Given the description of an element on the screen output the (x, y) to click on. 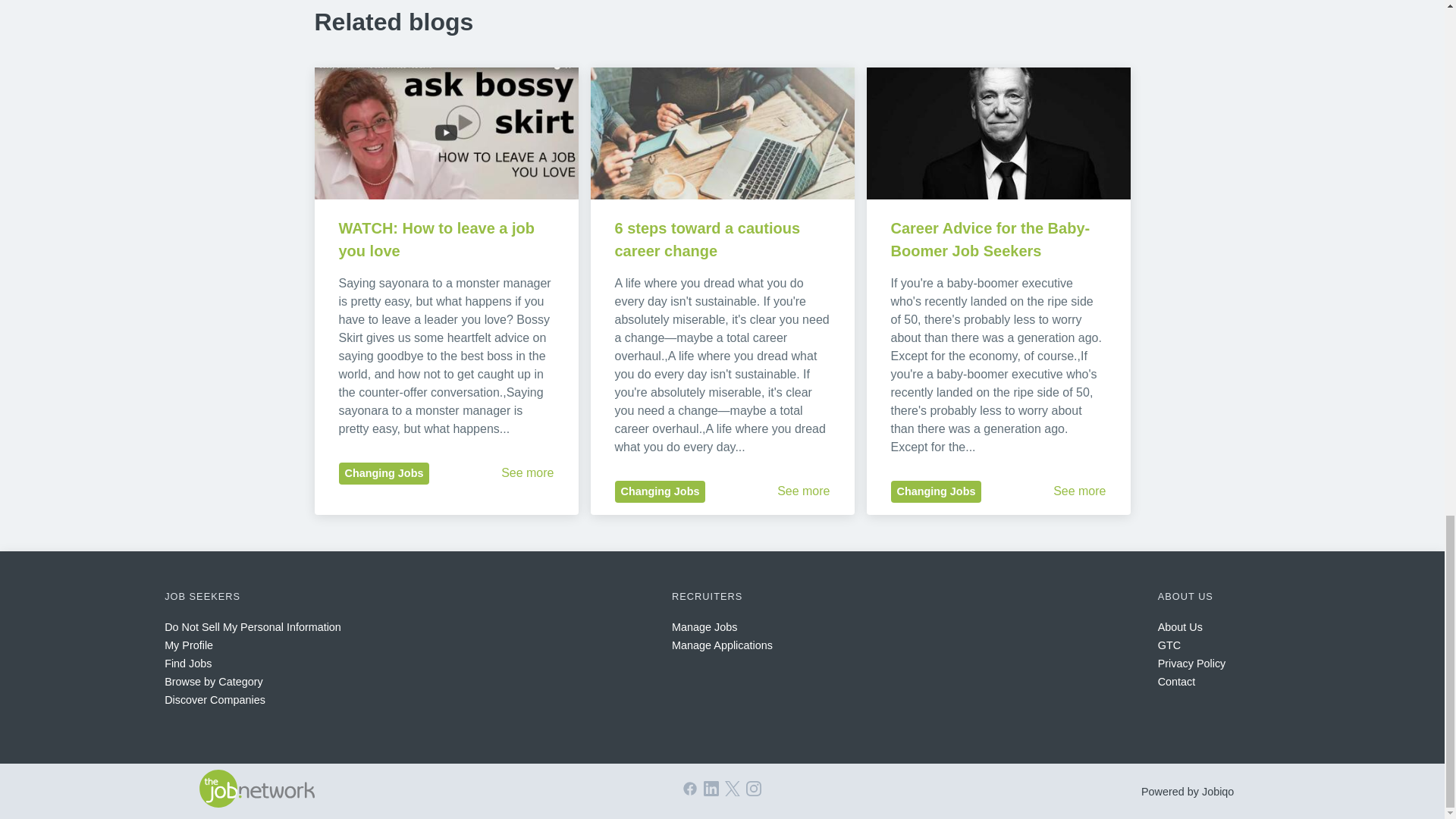
Manage Applications (722, 645)
Manage Jobs (703, 626)
See more (803, 490)
See more (526, 472)
My Profile (188, 645)
Privacy Policy (1191, 663)
Contact (1176, 681)
See more (1078, 490)
Do Not Sell My Personal Information (252, 626)
Facebook logo (689, 788)
Browse by Category (213, 681)
WATCH: How to leave a job you love (437, 239)
Facebook logo (689, 792)
Instagram logo (753, 788)
Find Jobs (187, 663)
